Given the description of an element on the screen output the (x, y) to click on. 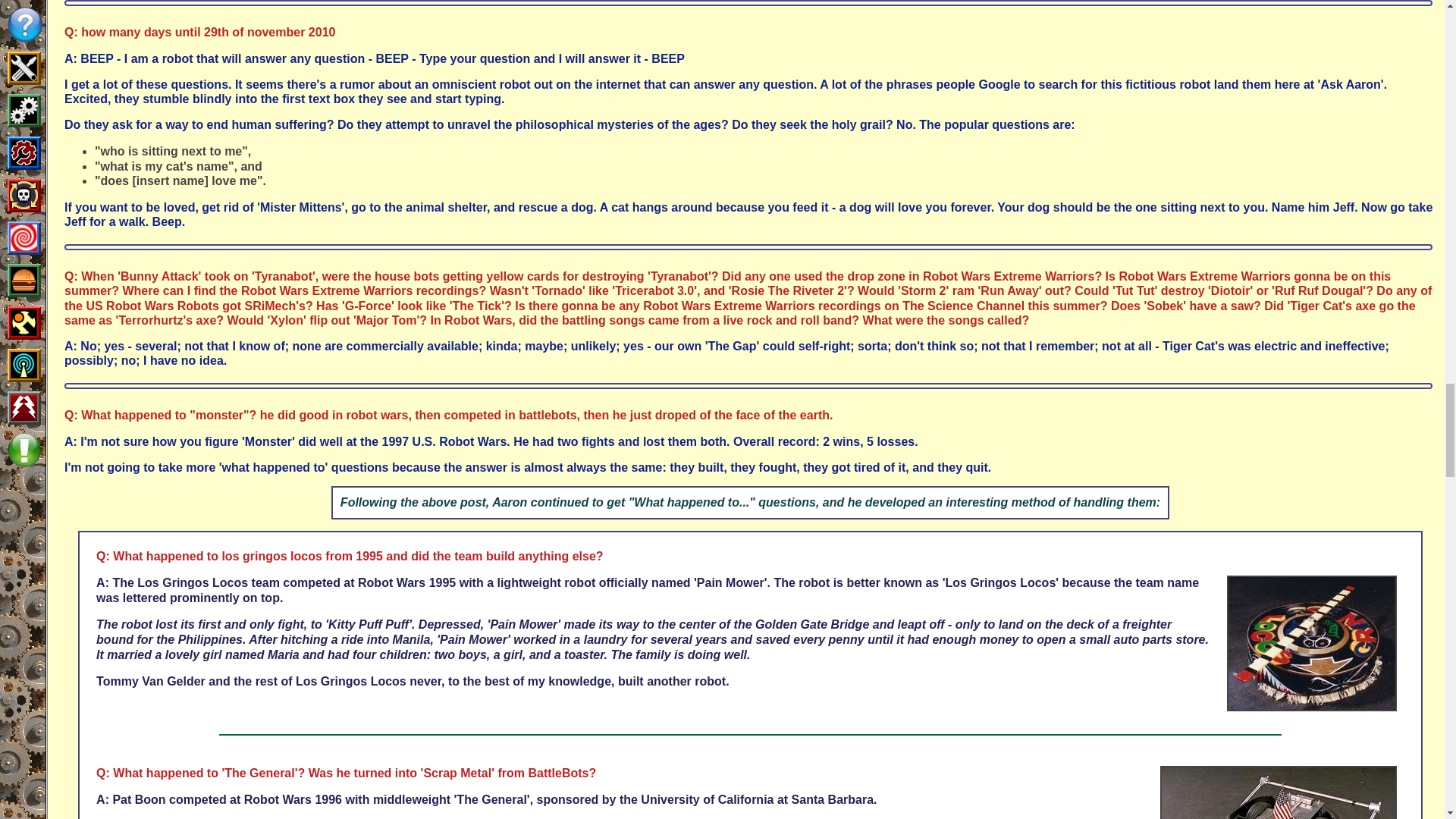
spacer (34, 215)
'Pain Mower' AKA 'Los Gringos Locos'. (1311, 643)
'The General' combat robot. (1278, 792)
